Given the description of an element on the screen output the (x, y) to click on. 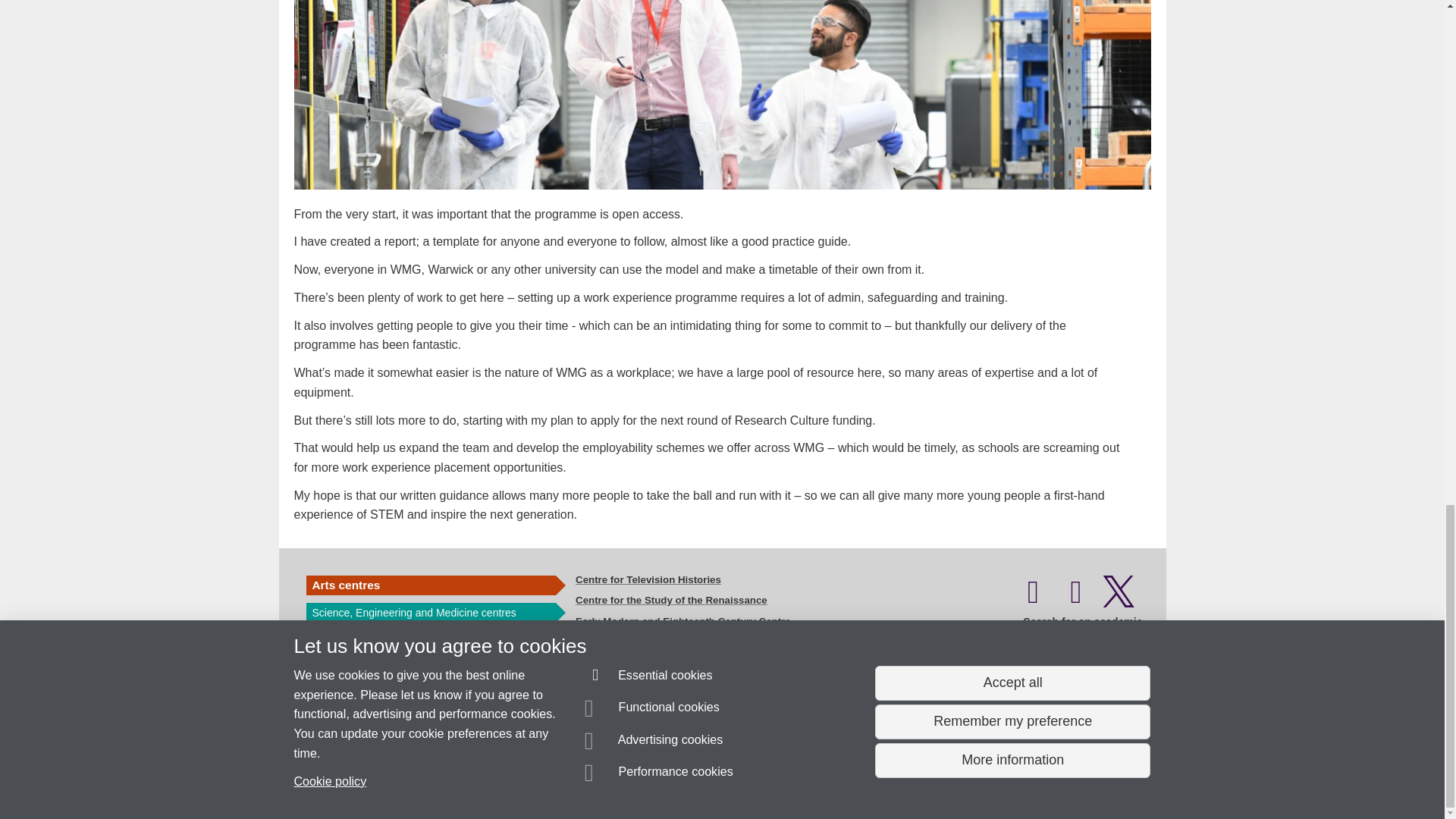
Terms of use (708, 780)
Copyright Statement (514, 780)
More information about SiteBuilder (365, 780)
University of Warwick on Twitter (1118, 598)
Information about cookies (467, 780)
Send an email to Emma Williams (382, 751)
University of Warwick on YouTube (1076, 598)
Privacy notice (673, 780)
University of Warwick on Facebook (1032, 598)
